Given the description of an element on the screen output the (x, y) to click on. 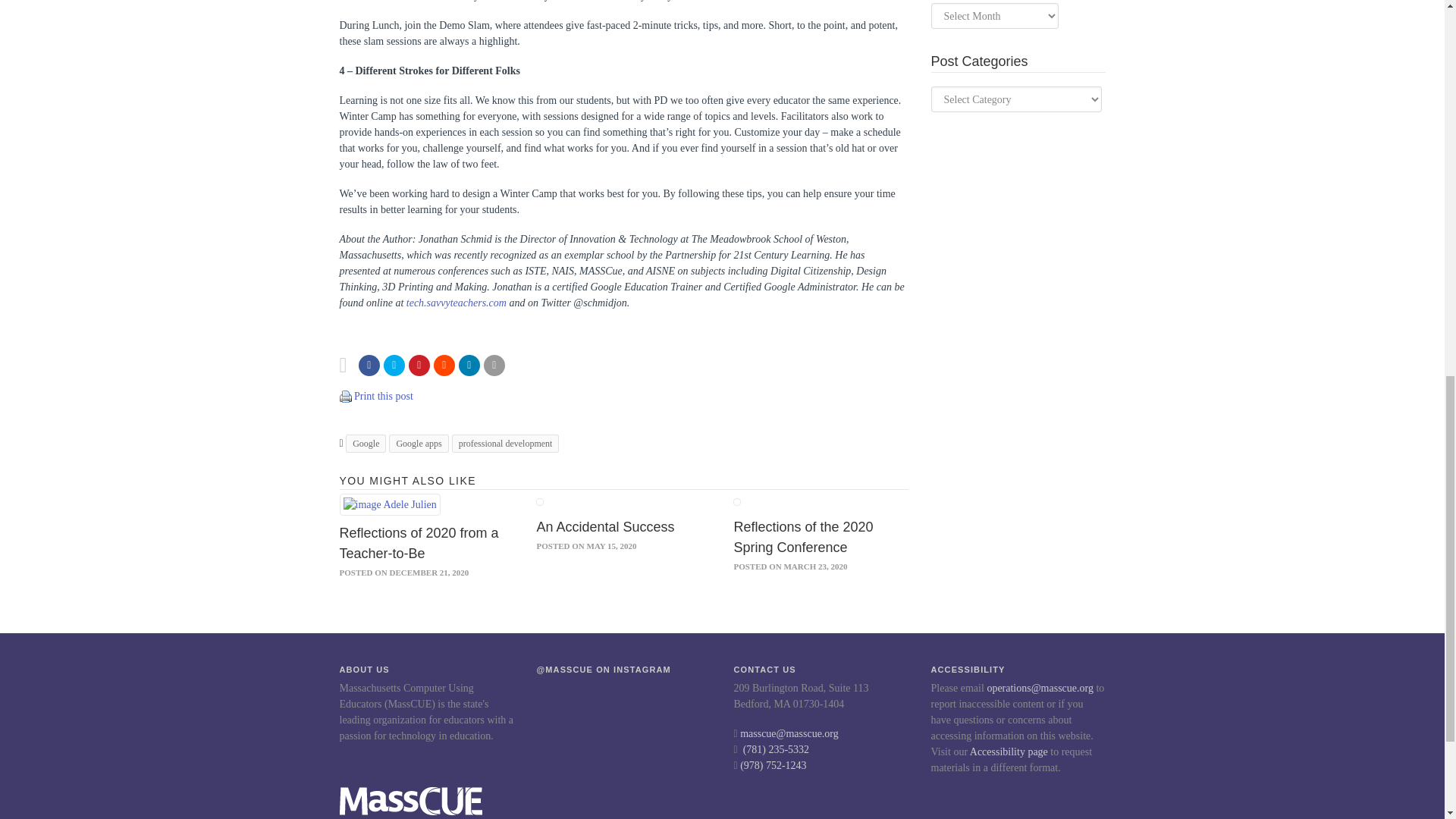
Share on Linkedin (469, 364)
Share on Facebook (369, 364)
Tweet (394, 364)
Submit to Reddit (443, 364)
Print this post (383, 395)
Pin it (419, 364)
Email (494, 364)
Print this post (345, 395)
Print this post (345, 396)
